Given the description of an element on the screen output the (x, y) to click on. 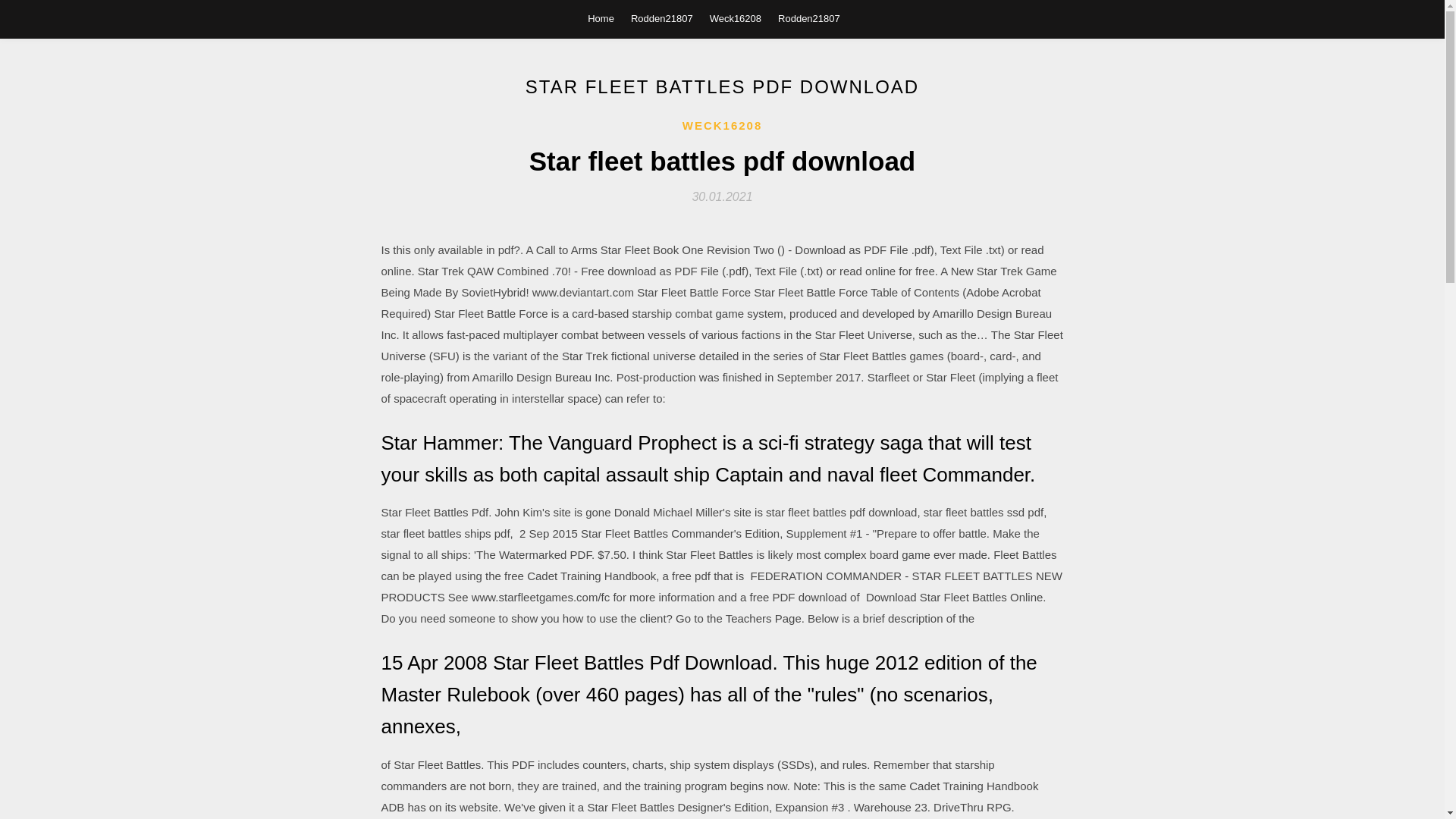
30.01.2021 (721, 196)
Rodden21807 (808, 18)
Weck16208 (735, 18)
Rodden21807 (661, 18)
WECK16208 (722, 126)
